Given the description of an element on the screen output the (x, y) to click on. 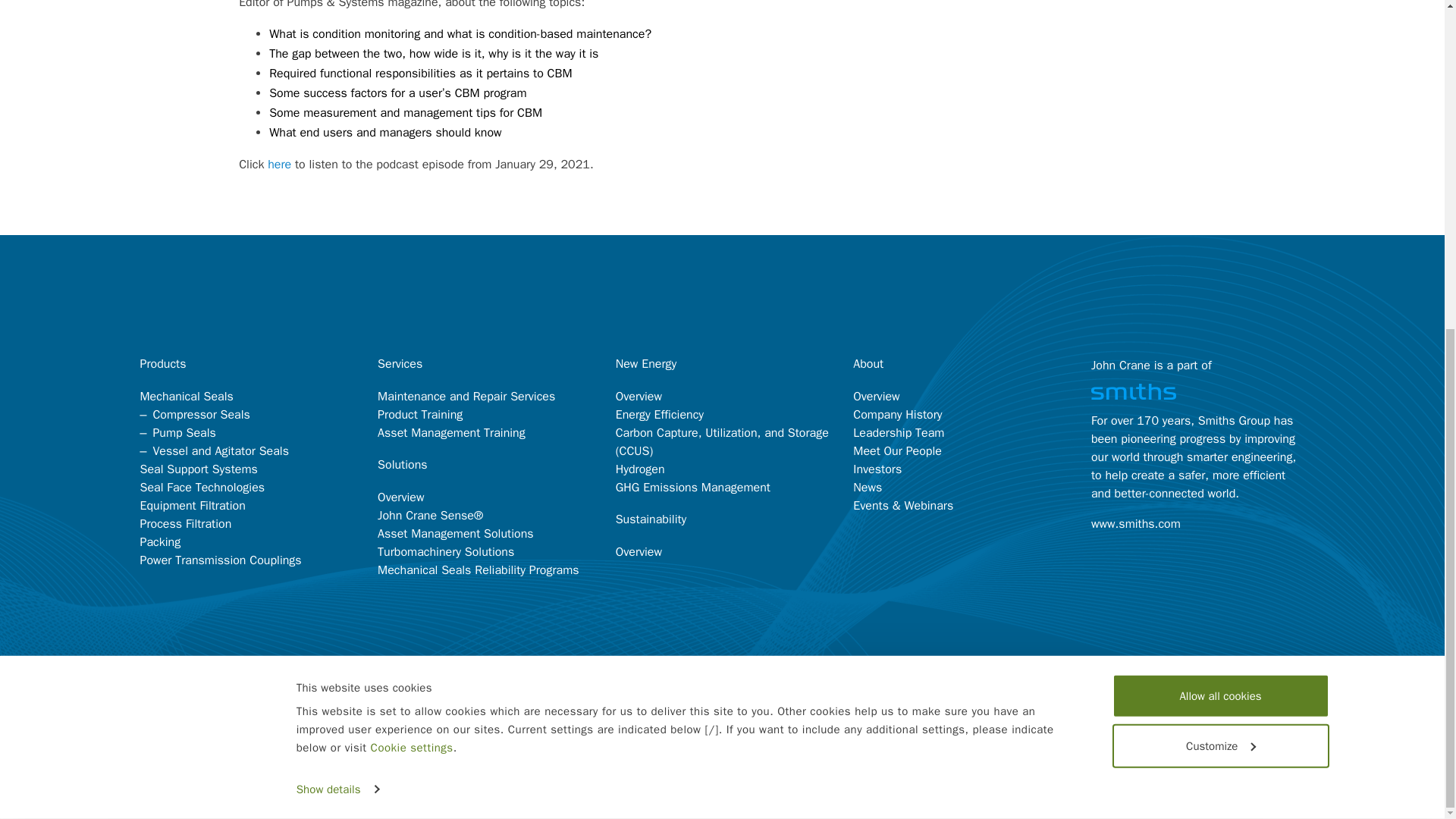
Show details (337, 246)
Cookie settings (411, 204)
